Given the description of an element on the screen output the (x, y) to click on. 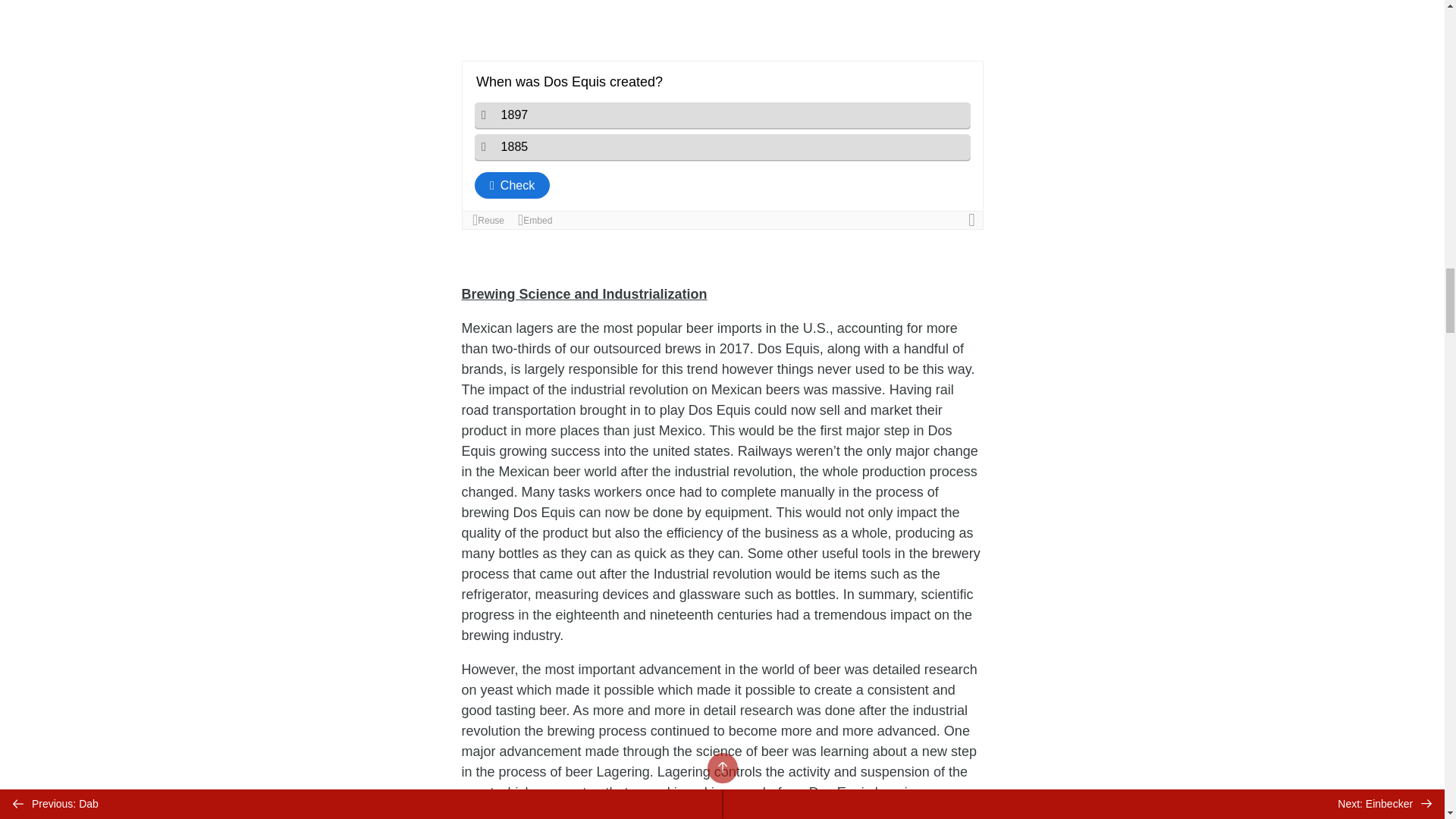
Knowledge Check (721, 145)
